Given the description of an element on the screen output the (x, y) to click on. 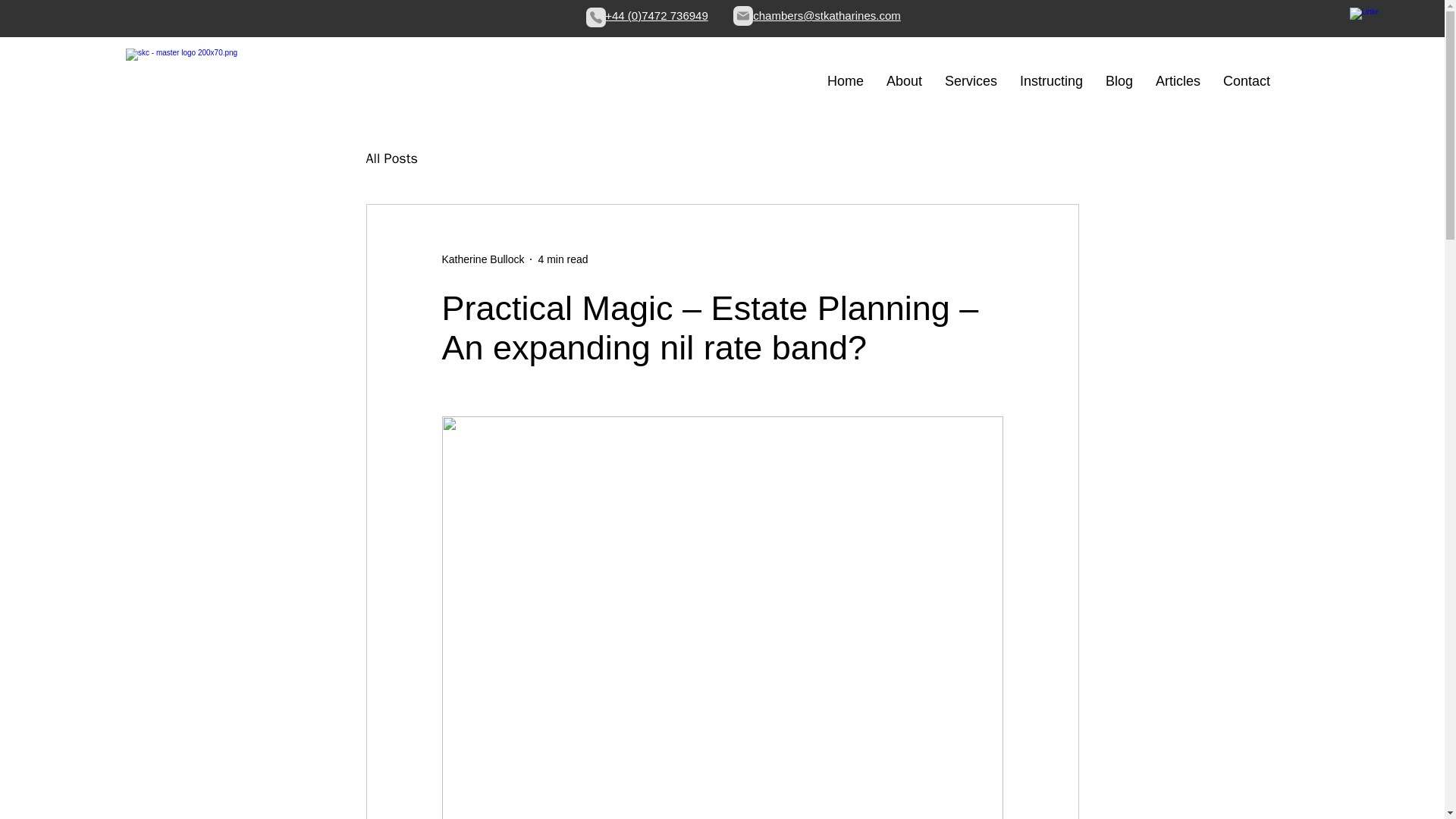
Services (971, 80)
4 min read (562, 259)
Instructing (1051, 80)
All Posts (390, 158)
Blog (1119, 80)
Katherine Bullock (482, 259)
Contact (1246, 80)
Home (845, 80)
About (904, 80)
Articles (1177, 80)
